Given the description of an element on the screen output the (x, y) to click on. 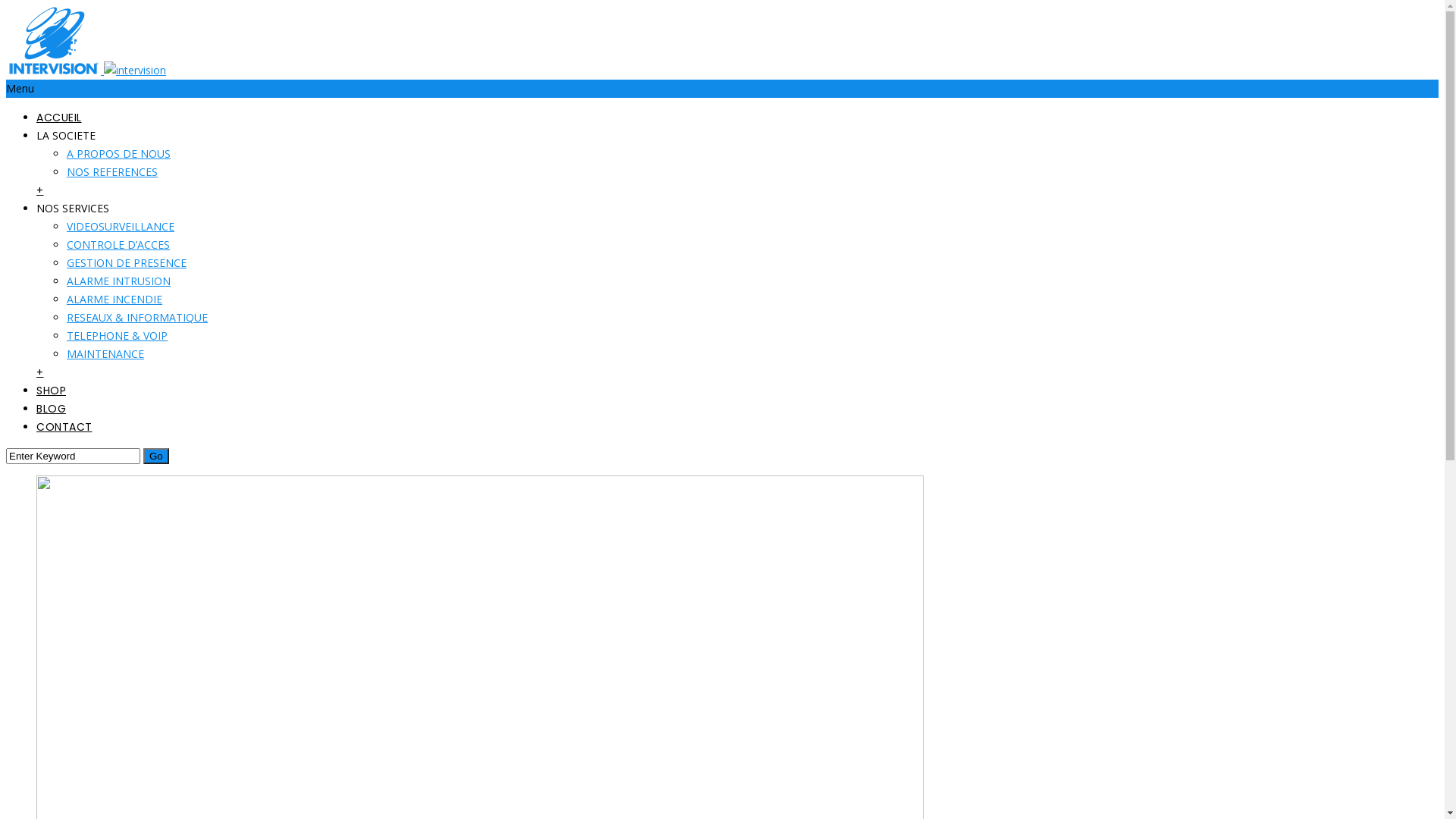
SHOP Element type: text (50, 390)
TELEPHONE & VOIP Element type: text (116, 335)
intervision Element type: hover (53, 40)
Go Element type: text (156, 456)
CONTACT Element type: text (64, 426)
A PROPOS DE NOUS Element type: text (118, 153)
intervision Element type: hover (134, 70)
ALARME INCENDIE Element type: text (114, 298)
BLOG Element type: text (50, 408)
ALARME INTRUSION Element type: text (118, 280)
GESTION DE PRESENCE Element type: text (126, 262)
NOS REFERENCES Element type: text (111, 171)
+ Element type: text (39, 189)
MAINTENANCE Element type: text (105, 353)
VIDEOSURVEILLANCE Element type: text (120, 226)
+ Element type: text (39, 371)
ACCUEIL Element type: text (58, 117)
RESEAUX & INFORMATIQUE Element type: text (136, 317)
